Given the description of an element on the screen output the (x, y) to click on. 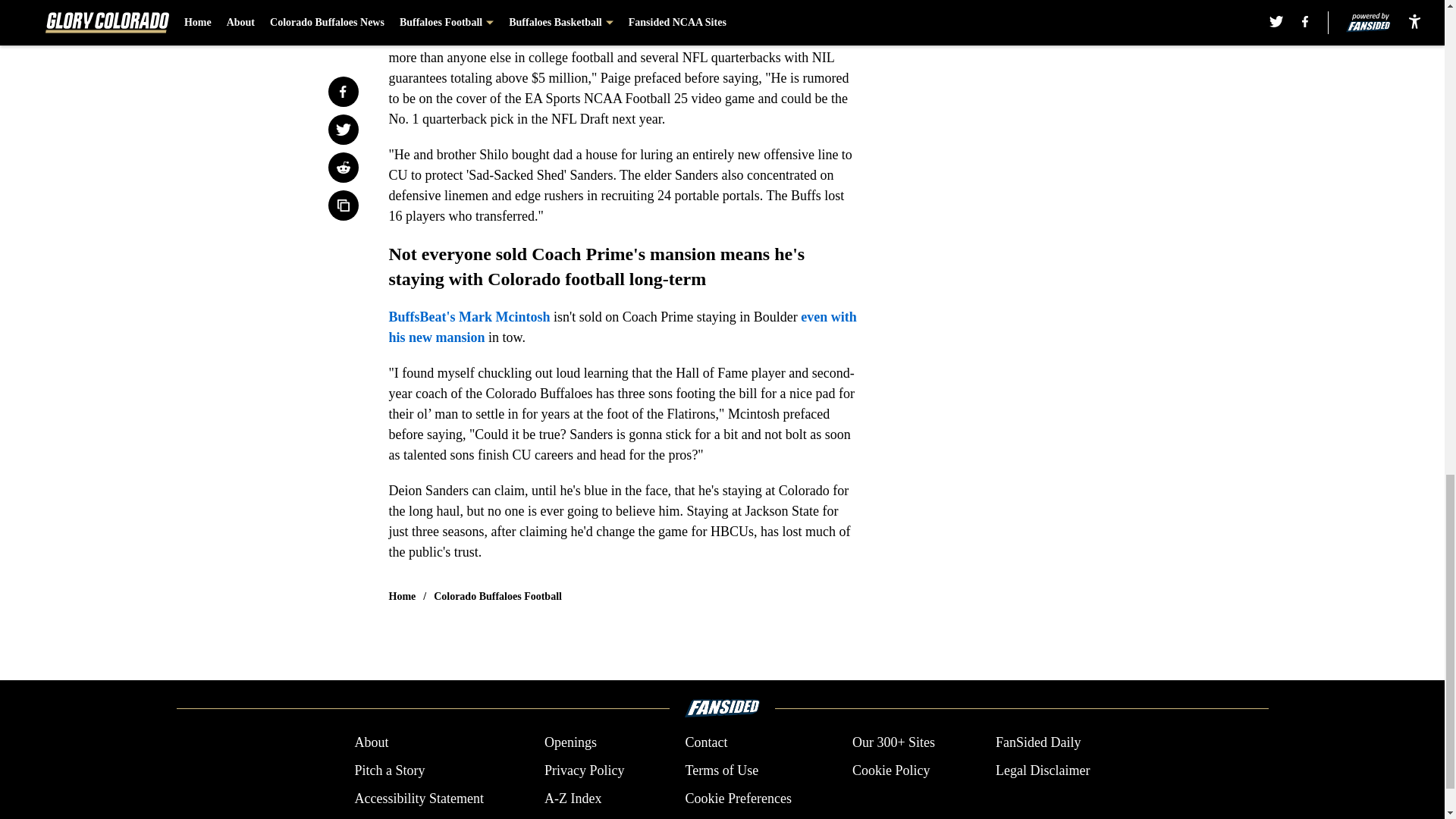
even with his new mansion (622, 326)
Openings (570, 742)
Pitch a Story (389, 770)
A-Z Index (572, 798)
FanSided Daily (1038, 742)
Terms of Use (721, 770)
Legal Disclaimer (1042, 770)
Cookie Policy (890, 770)
Cookie Preferences (737, 798)
Accessibility Statement (418, 798)
